Given the description of an element on the screen output the (x, y) to click on. 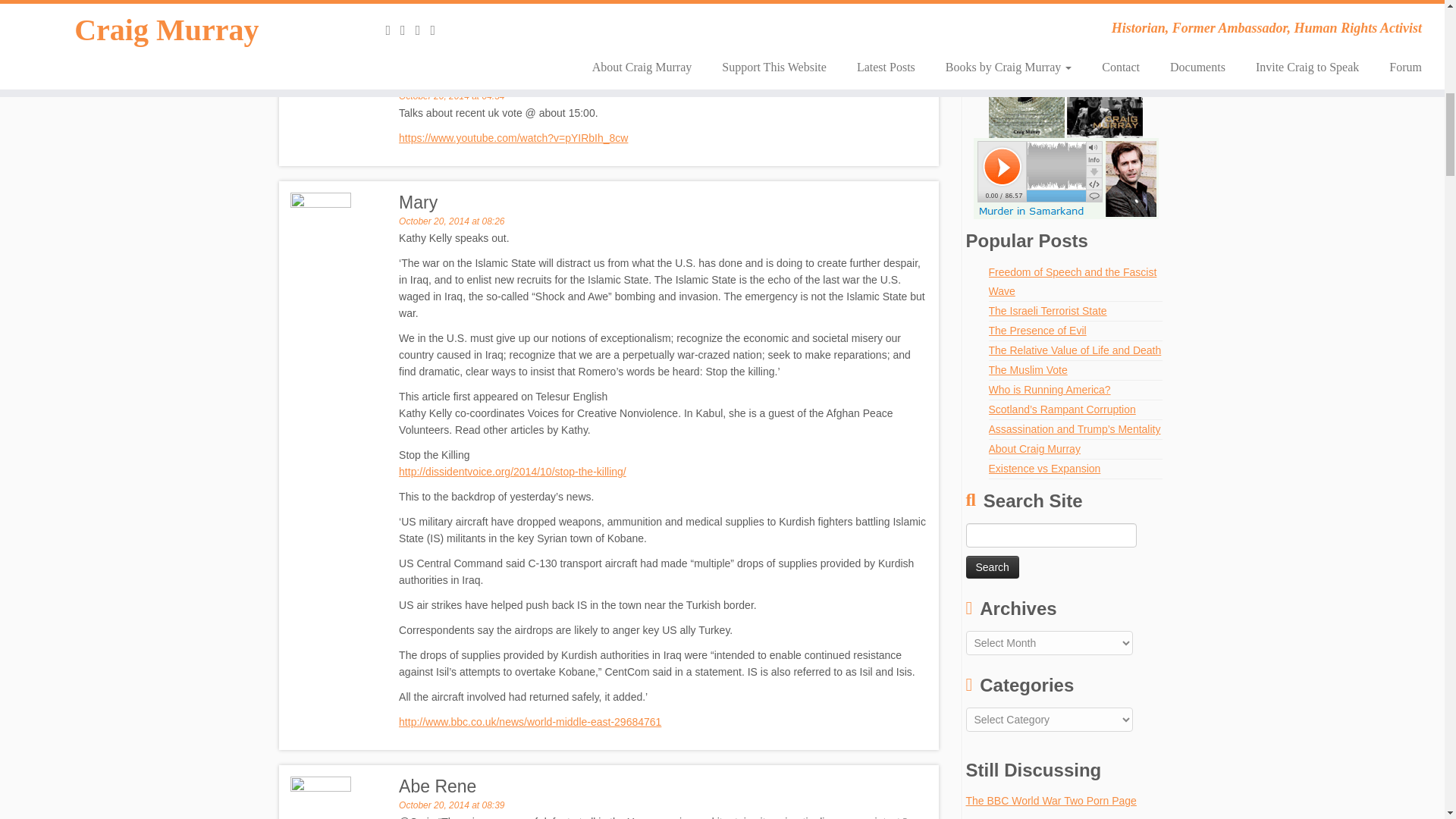
Search (992, 567)
October 20, 2014 at 08:26 (450, 221)
October 20, 2014 at 04:34 (450, 95)
